Given the description of an element on the screen output the (x, y) to click on. 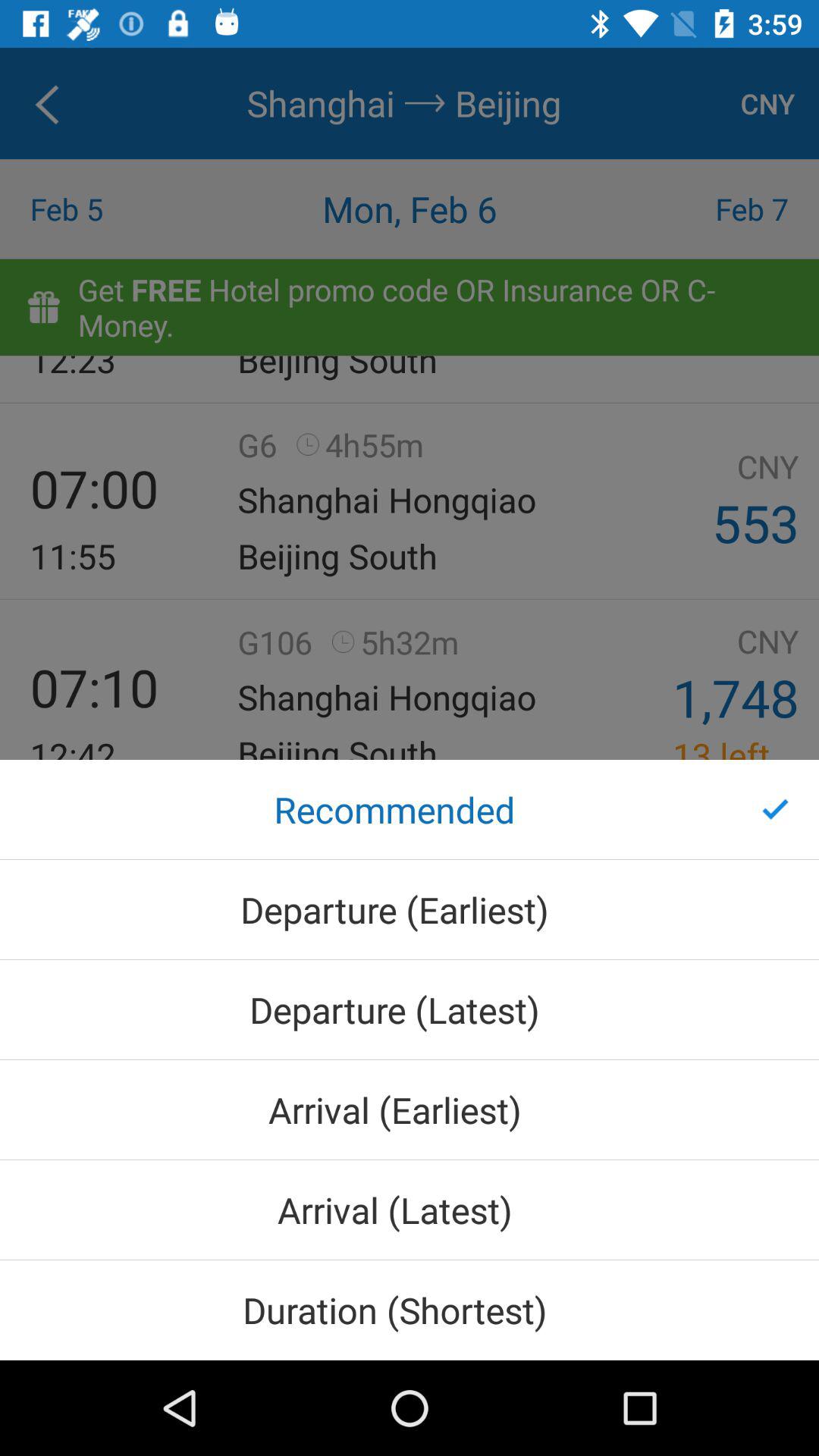
launch departure (earliest) icon (409, 909)
